Given the description of an element on the screen output the (x, y) to click on. 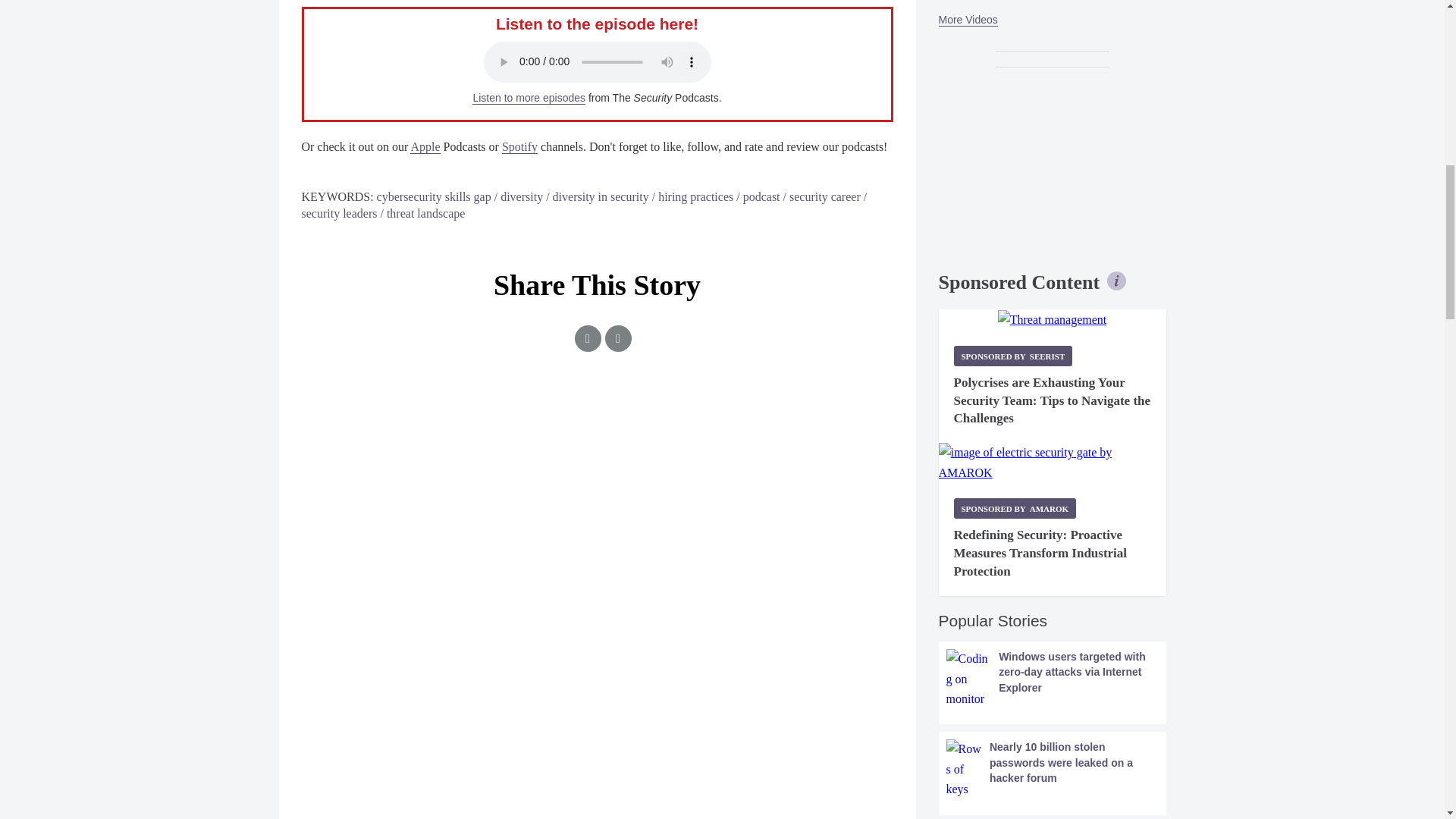
Sponsored by Seerist (1013, 355)
AMAROK Security Gate (1052, 463)
Sponsored by AMAROK (1015, 507)
Threat management (1051, 320)
